Given the description of an element on the screen output the (x, y) to click on. 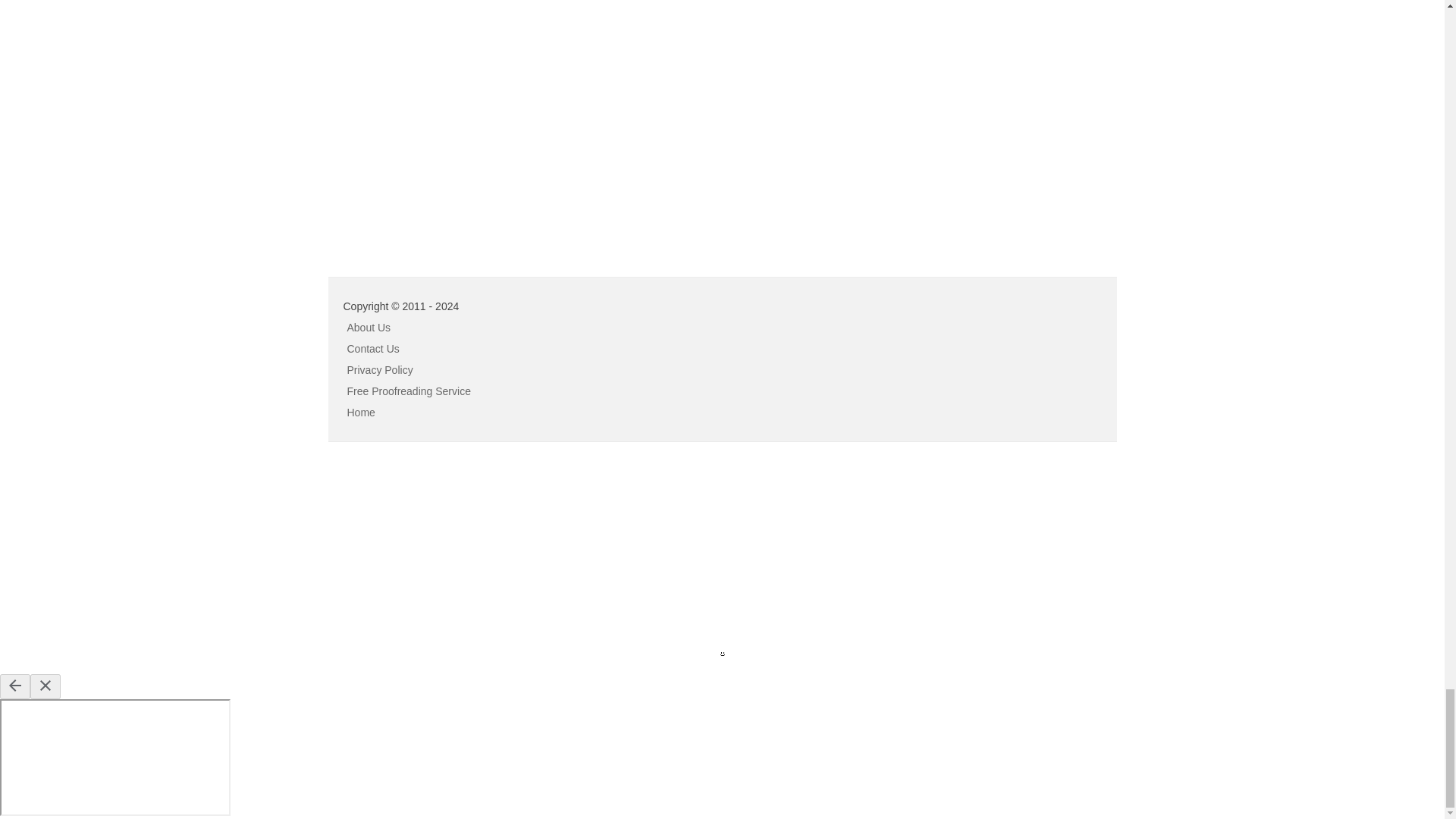
Free Proofreading Service (408, 390)
Privacy Policy (380, 369)
Contact Us (372, 348)
About Us (369, 327)
Home (361, 412)
